Given the description of an element on the screen output the (x, y) to click on. 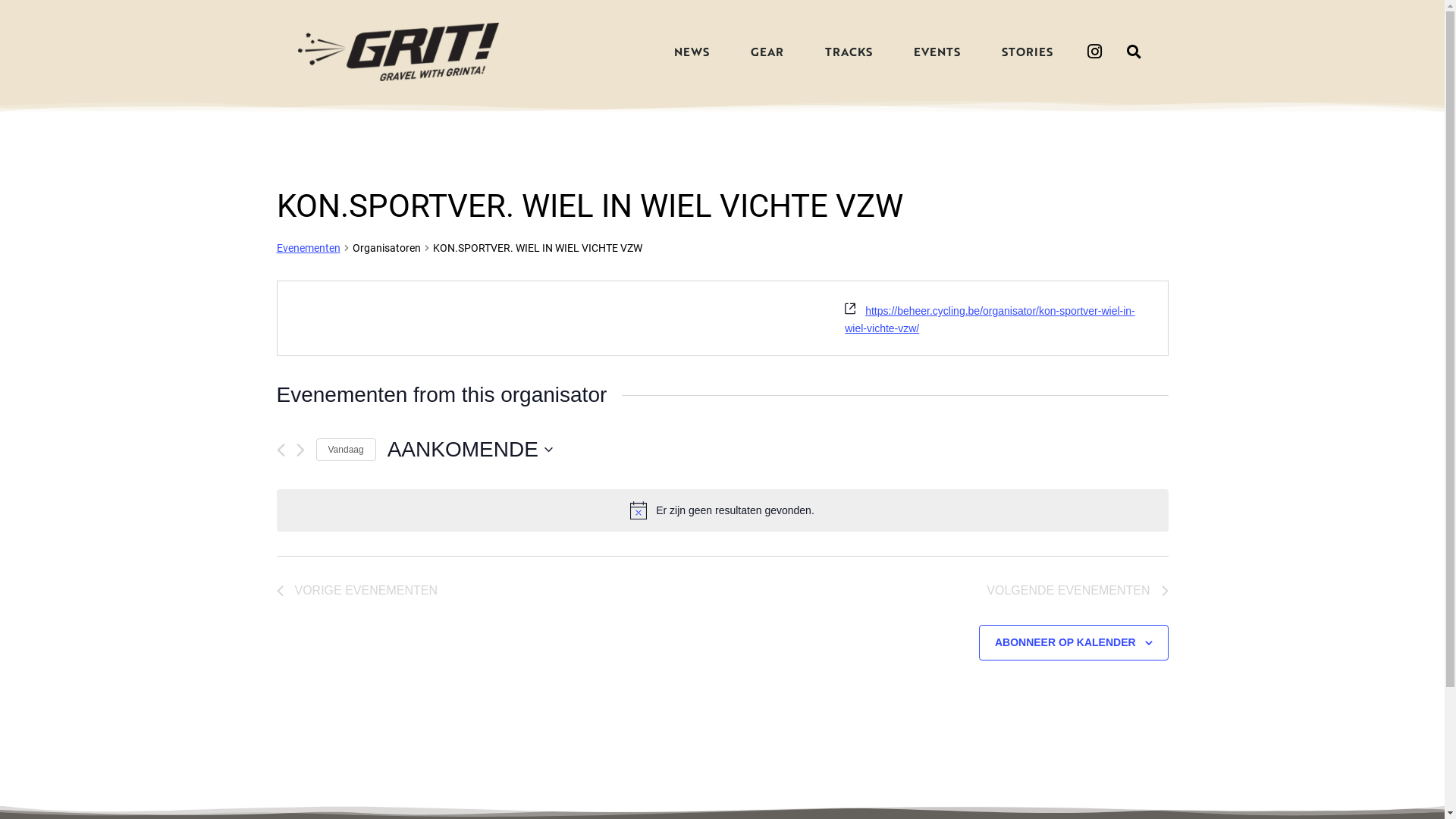
AANKOMENDE Element type: text (469, 449)
TRACKS Element type: text (848, 51)
Evenementen Element type: text (307, 249)
NEWS Element type: text (691, 51)
STORIES Element type: text (1026, 51)
Vandaag Element type: text (345, 449)
VORIGE EVENEMENTEN Element type: text (356, 590)
Vorige Evenementen Element type: hover (280, 449)
GEAR Element type: text (766, 51)
VOLGENDE EVENEMENTEN Element type: text (1076, 590)
EVENTS Element type: text (936, 51)
ABONNEER OP KALENDER Element type: text (1064, 642)
Volgende Evenementen Element type: hover (299, 449)
